Given the description of an element on the screen output the (x, y) to click on. 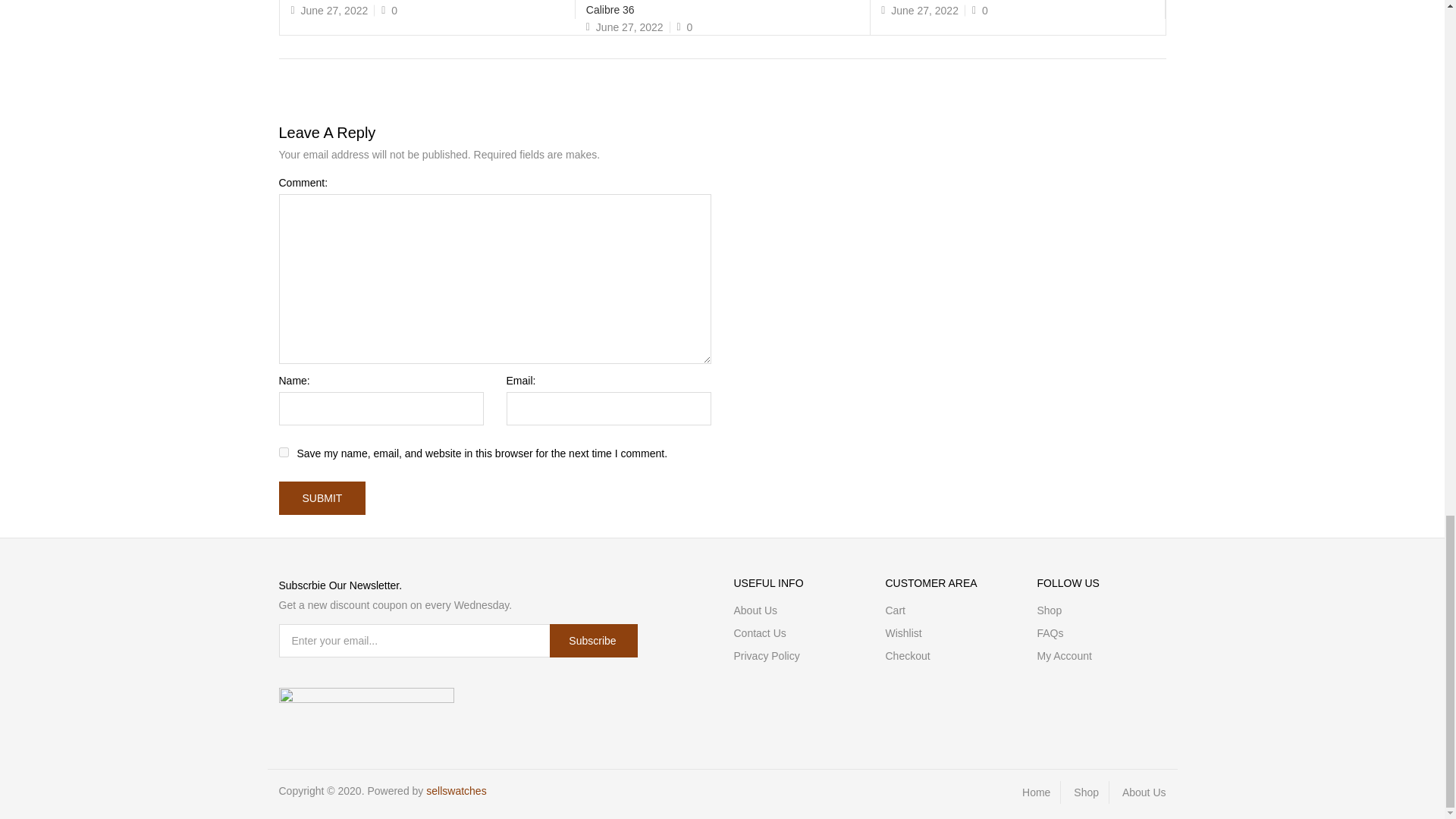
payments (366, 696)
submit (322, 498)
subscribe (593, 640)
yes (283, 452)
